Given the description of an element on the screen output the (x, y) to click on. 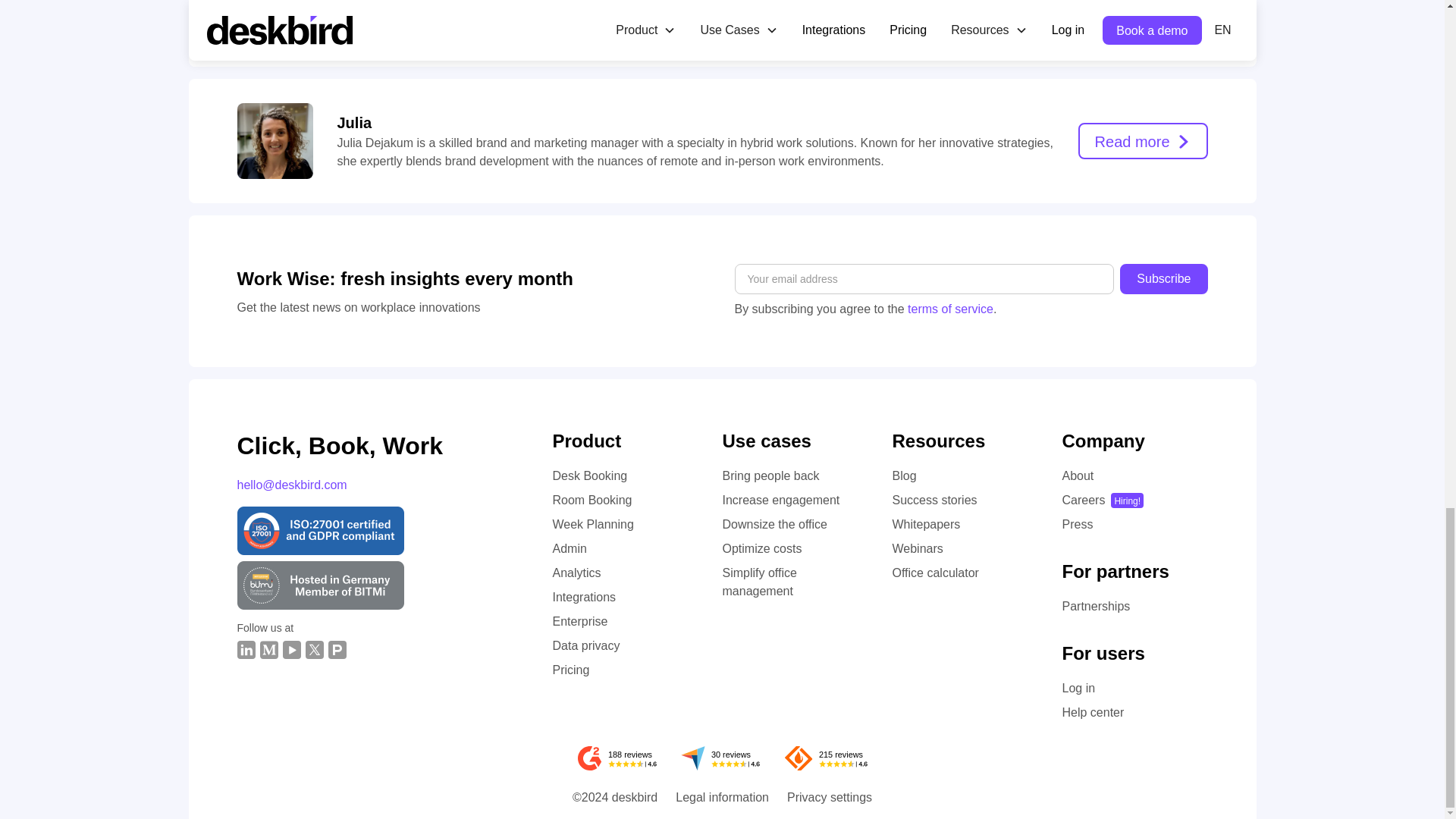
Subscribe (1163, 278)
